Given the description of an element on the screen output the (x, y) to click on. 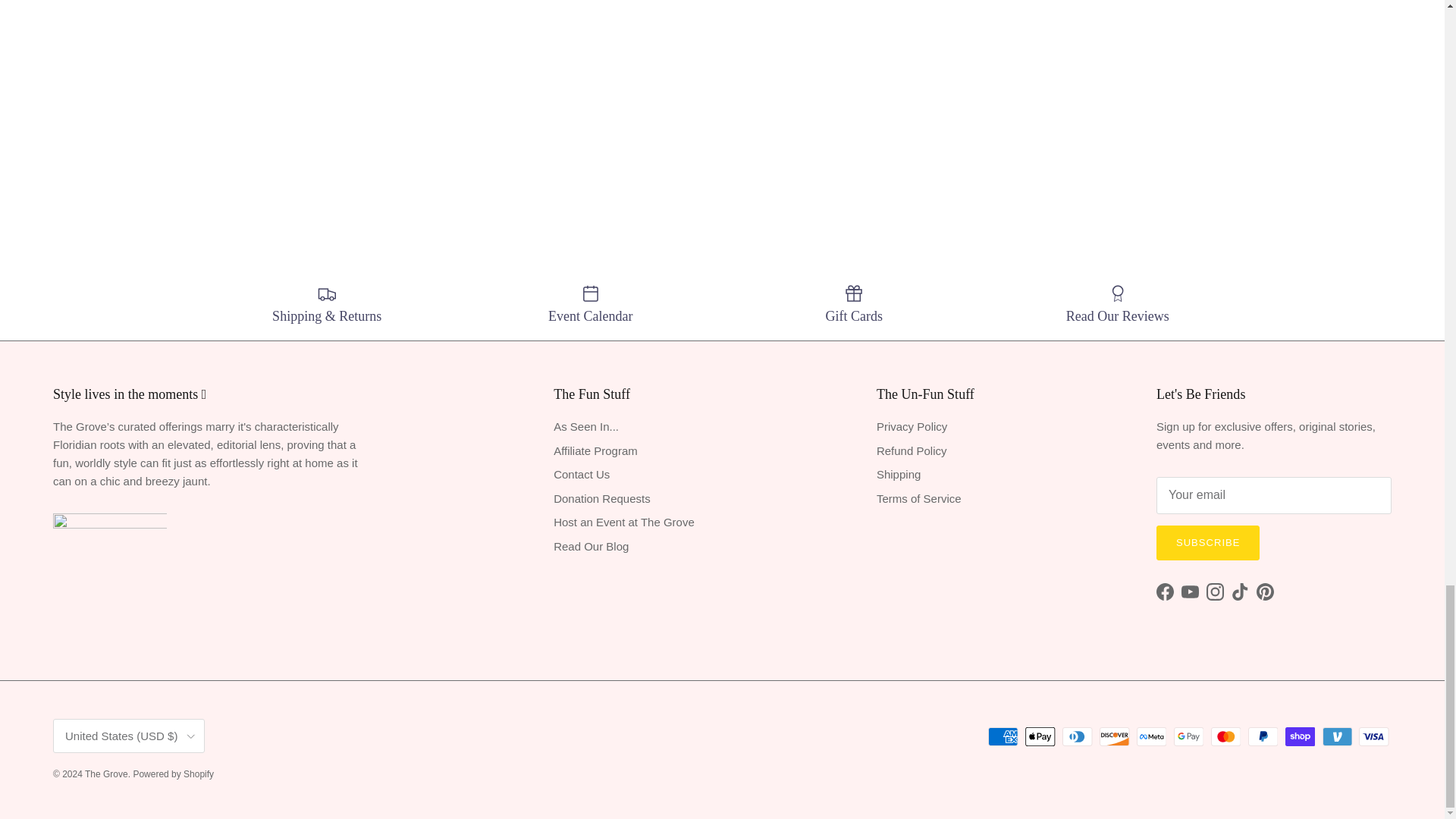
Apple Pay (1040, 736)
Diners Club (1077, 736)
The Grove on Facebook (1164, 591)
The Grove on YouTube (1189, 591)
Discover (1114, 736)
American Express (1002, 736)
